Given the description of an element on the screen output the (x, y) to click on. 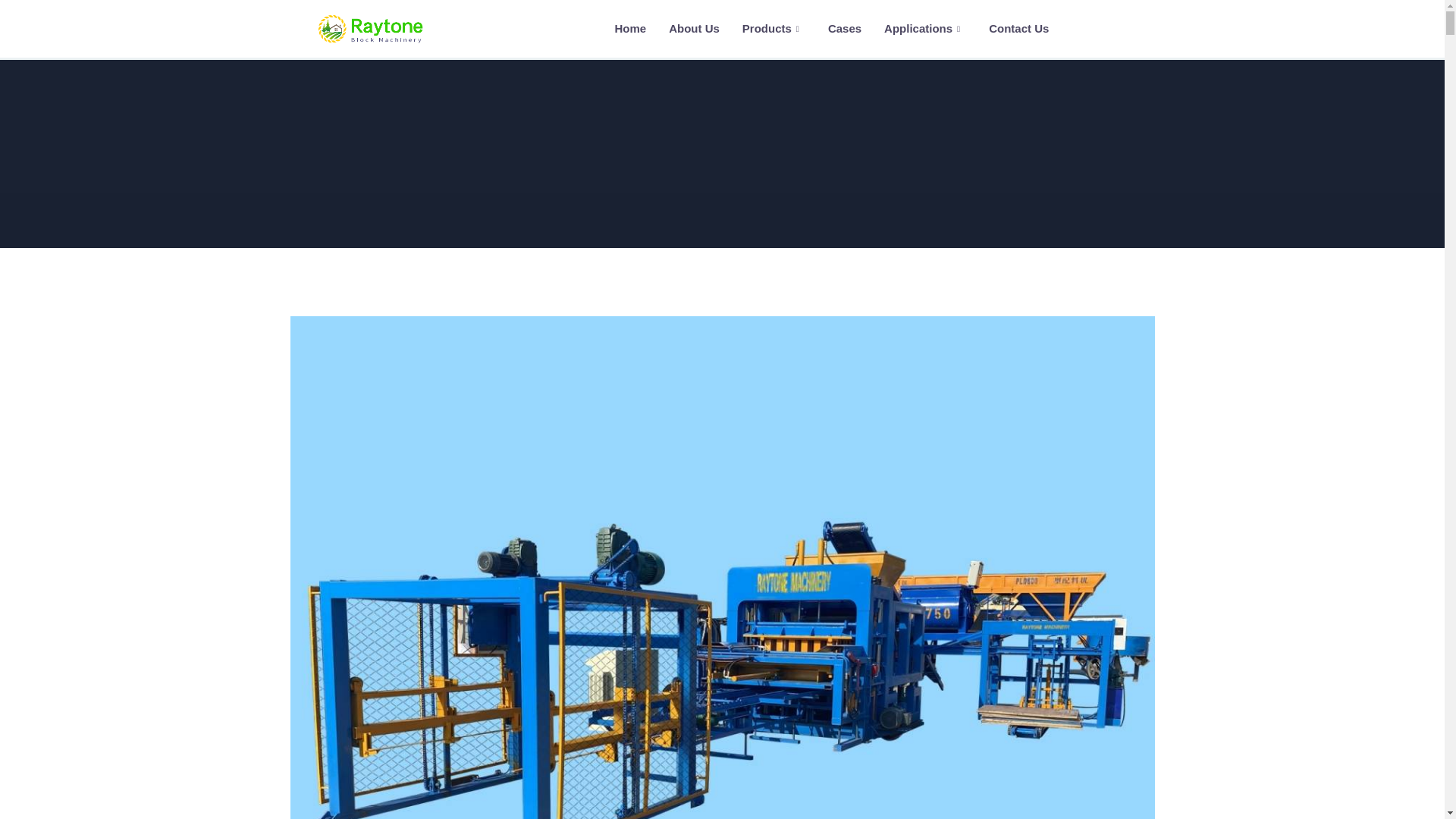
Home (630, 28)
Applications (924, 28)
Contact Us (1017, 28)
Products (773, 28)
About Us (694, 28)
Home (370, 28)
Cases (844, 28)
